Given the description of an element on the screen output the (x, y) to click on. 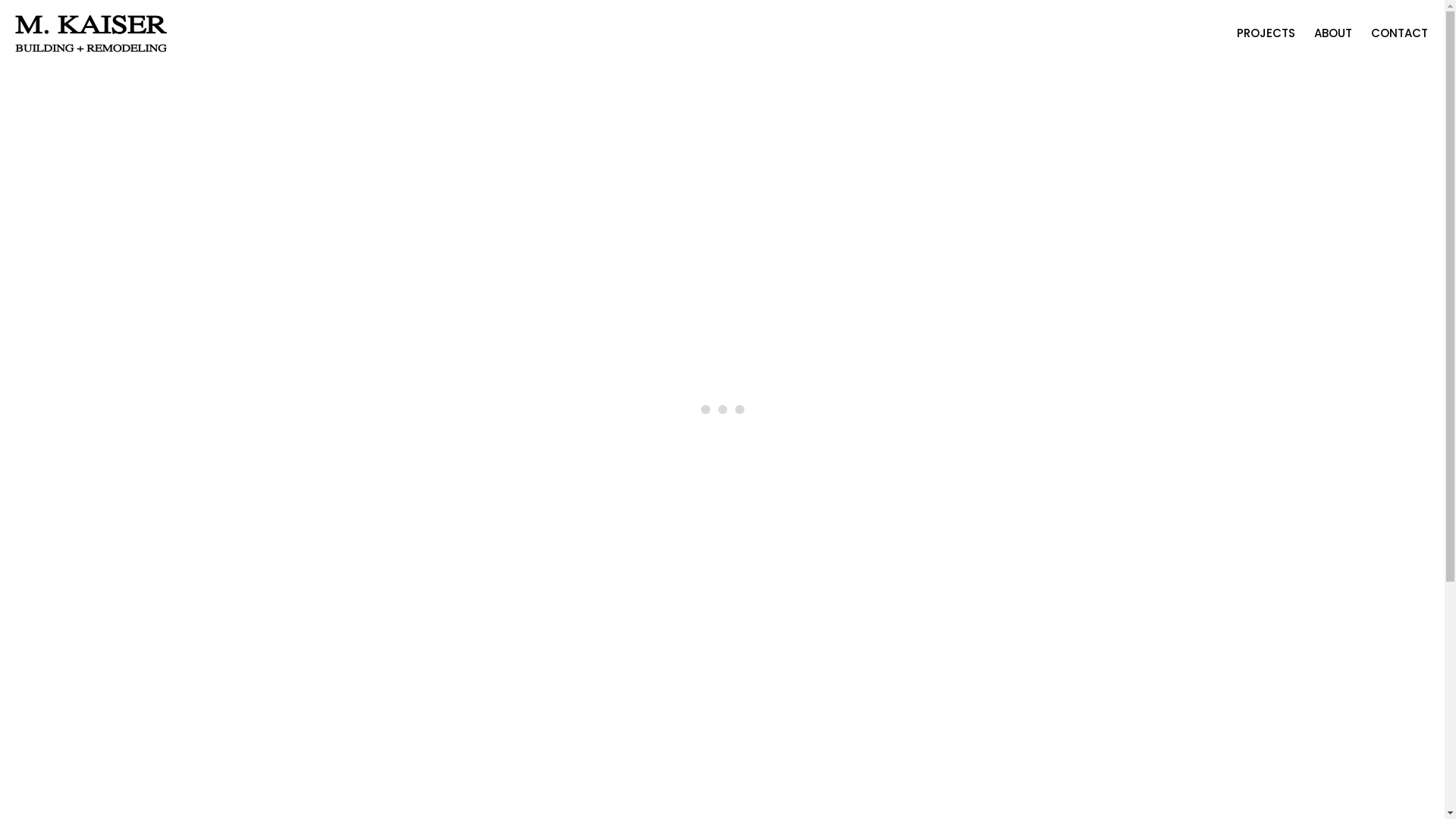
ABOUT Element type: text (1333, 34)
CONTACT Element type: text (1399, 34)
PROJECTS Element type: text (1265, 34)
